Given the description of an element on the screen output the (x, y) to click on. 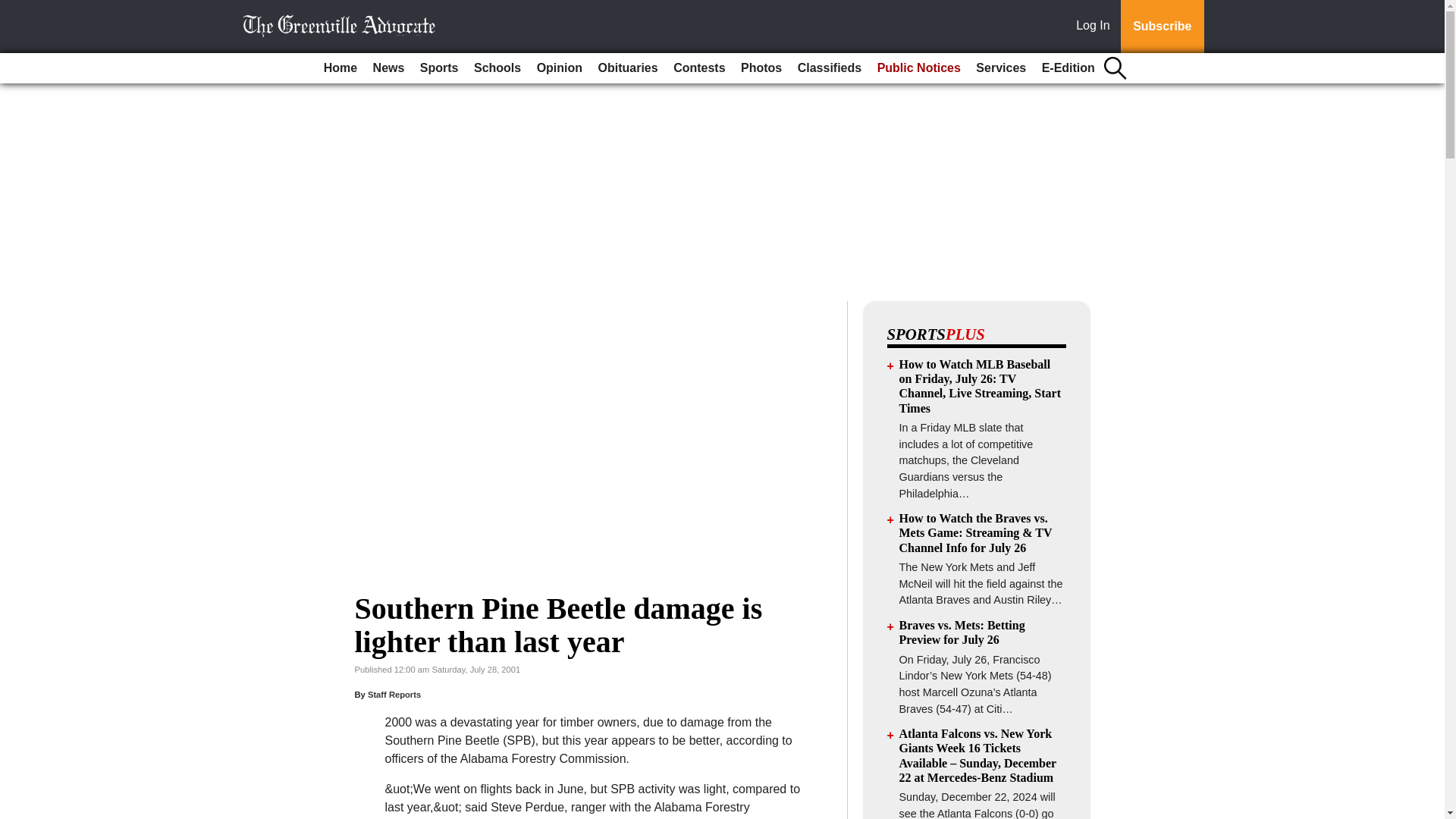
Home (339, 68)
Classifieds (829, 68)
Public Notices (918, 68)
Sports (438, 68)
Staff Reports (394, 694)
Braves vs. Mets: Betting Preview for July 26 (962, 632)
Services (1000, 68)
Schools (497, 68)
Contests (698, 68)
Log In (1095, 26)
Photos (761, 68)
E-Edition (1067, 68)
News (388, 68)
Subscribe (1162, 26)
